Given the description of an element on the screen output the (x, y) to click on. 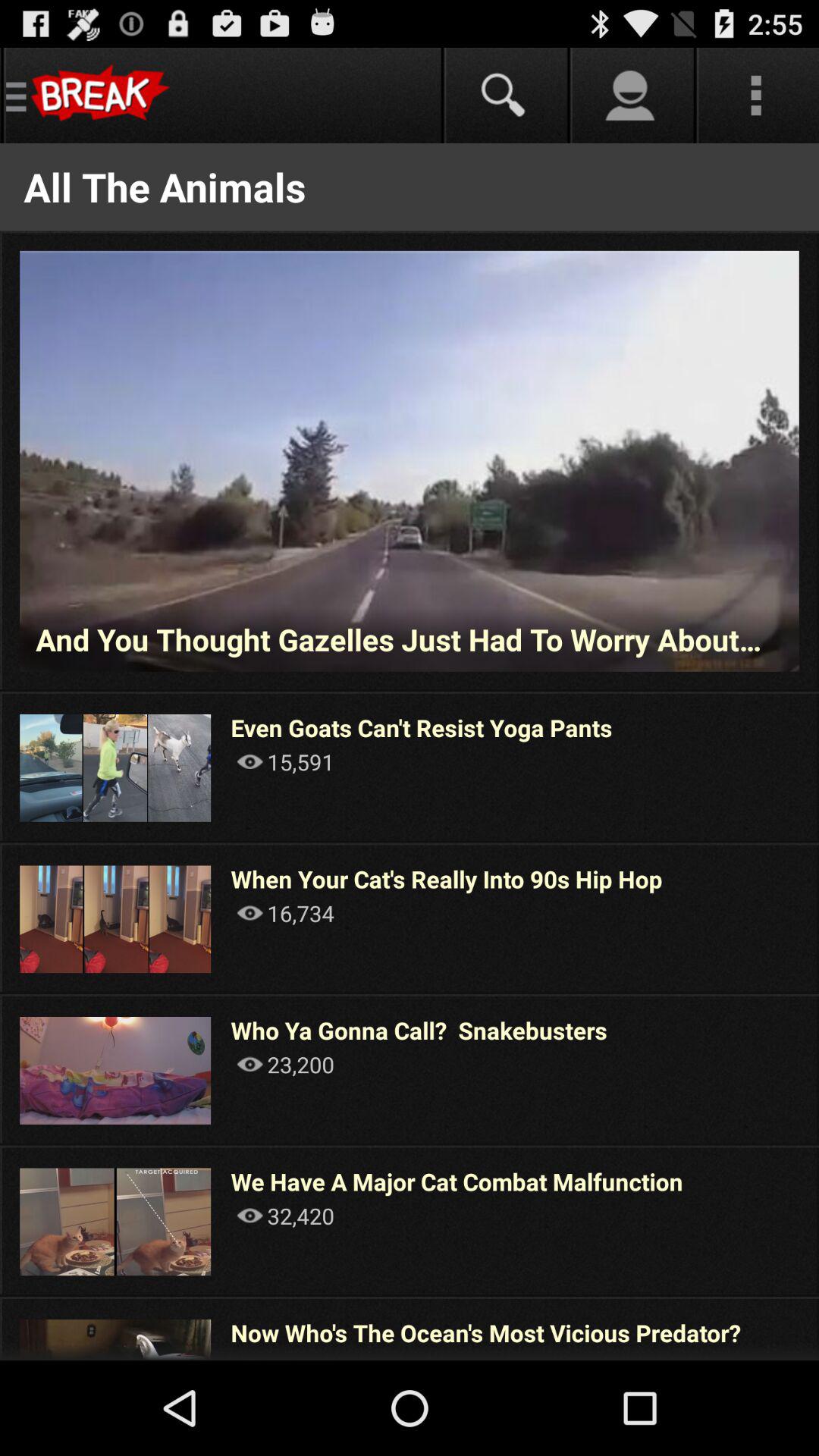
choose the when your cat app (446, 878)
